Given the description of an element on the screen output the (x, y) to click on. 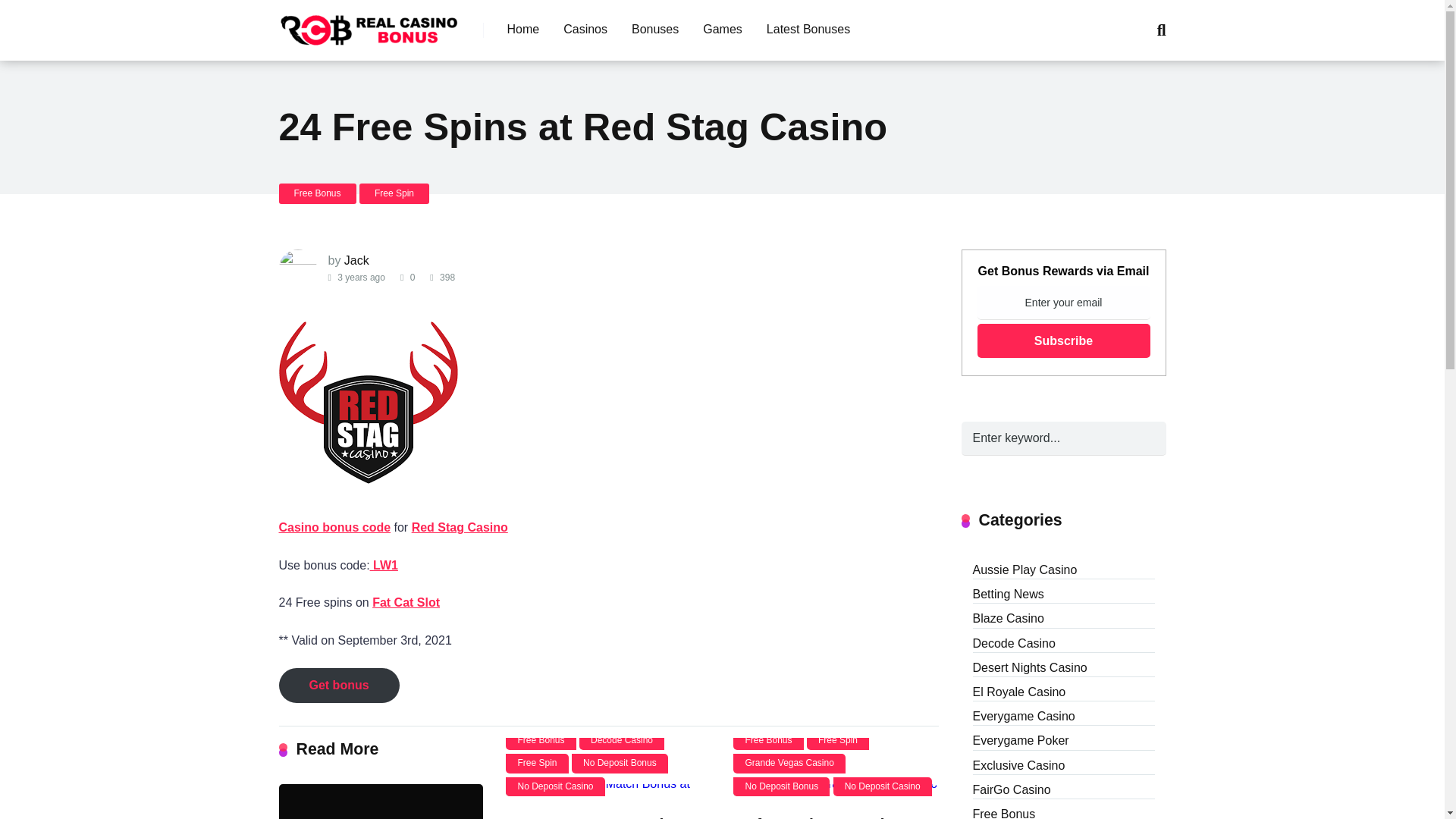
No Deposit Casino (554, 786)
Betting News (1007, 592)
No Deposit Bonus (781, 786)
Grande Vegas Casino (788, 763)
Free Spin (536, 763)
Free Bonus (317, 193)
 LW1 (383, 564)
Bonuses (655, 30)
Free Bonus (768, 740)
Free Spin (394, 193)
